Given the description of an element on the screen output the (x, y) to click on. 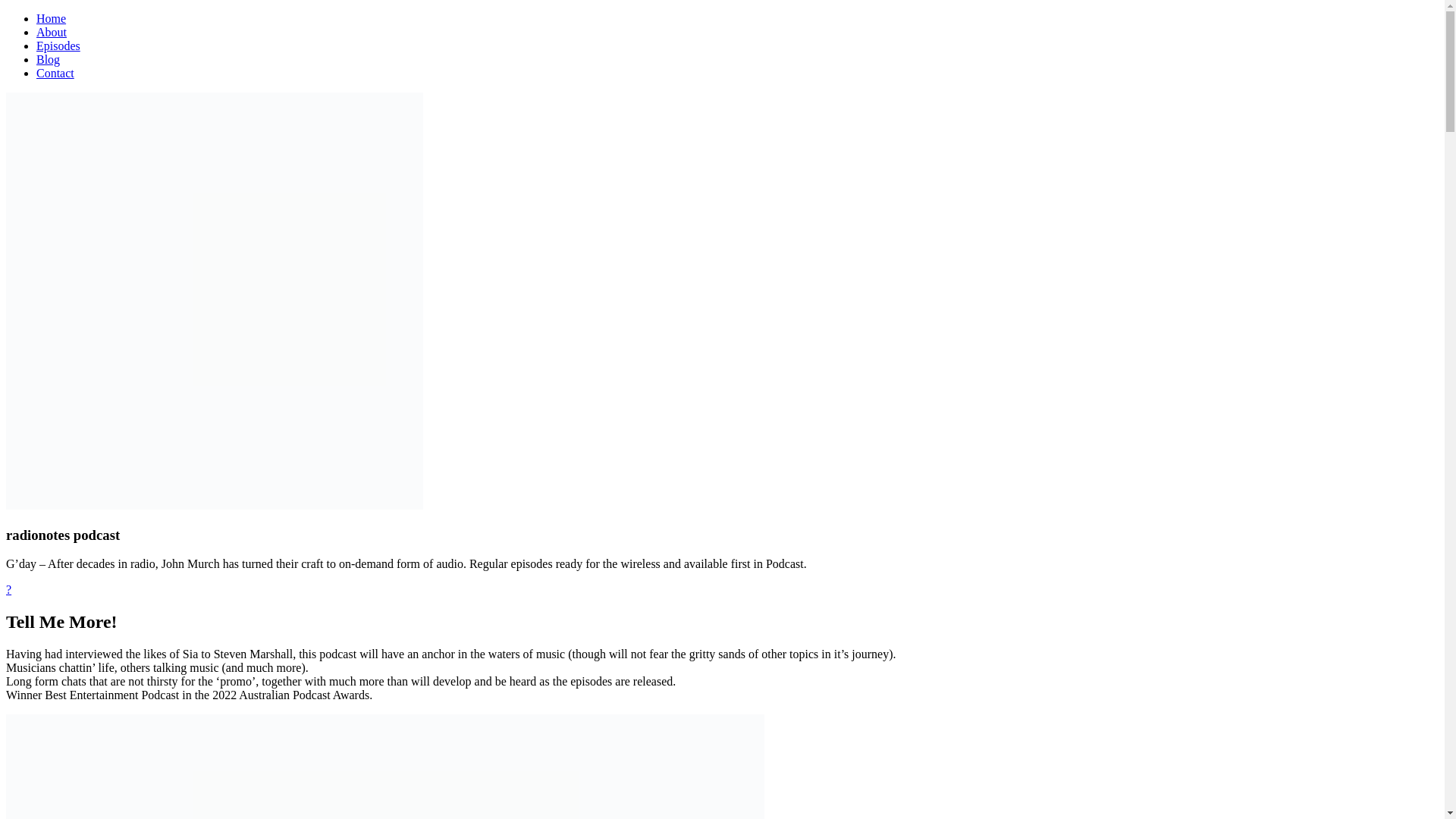
Contact (55, 72)
Episodes (58, 45)
About (51, 31)
Blog (47, 59)
Home (50, 18)
